Given the description of an element on the screen output the (x, y) to click on. 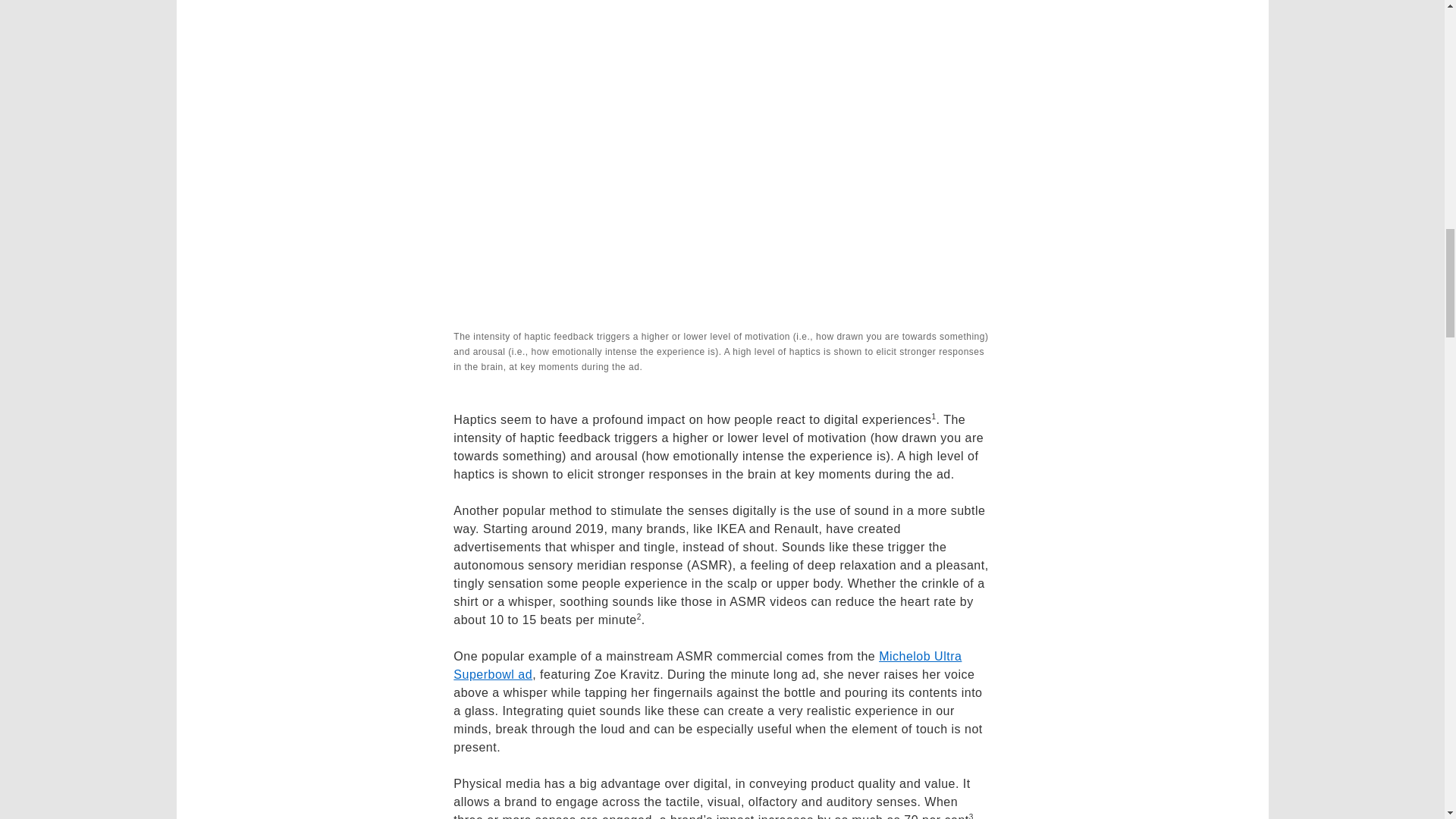
Link opens in a new window (706, 665)
Michelob Ultra Superbowl ad (706, 665)
